Given the description of an element on the screen output the (x, y) to click on. 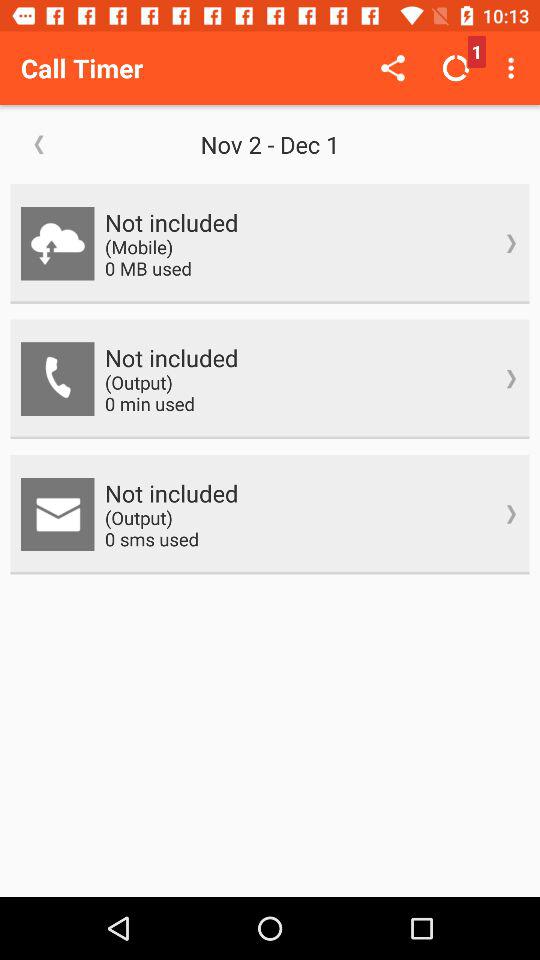
press item above the nov 2 dec (392, 67)
